Given the description of an element on the screen output the (x, y) to click on. 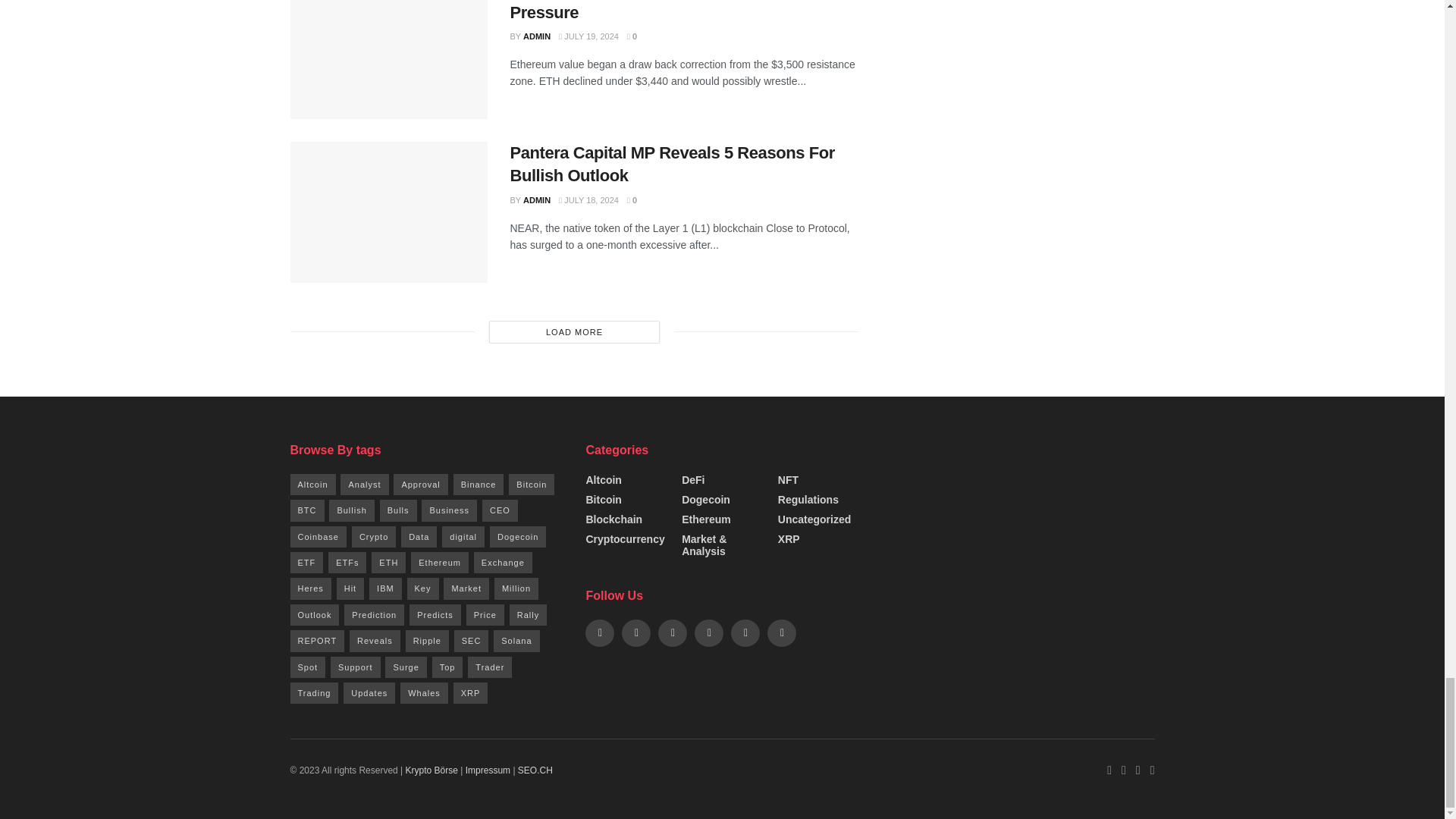
Premium news  (488, 769)
Premium news  (433, 769)
Premium news  (535, 769)
